Given the description of an element on the screen output the (x, y) to click on. 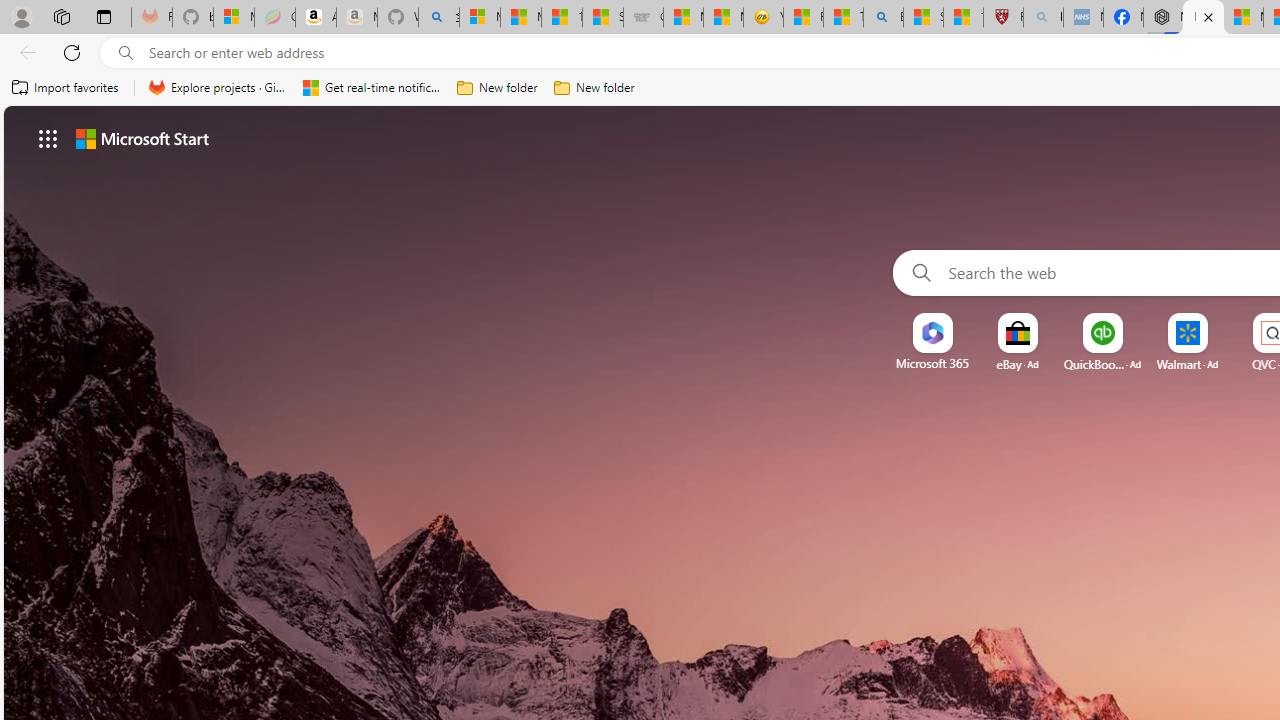
New folder (594, 88)
